Given the description of an element on the screen output the (x, y) to click on. 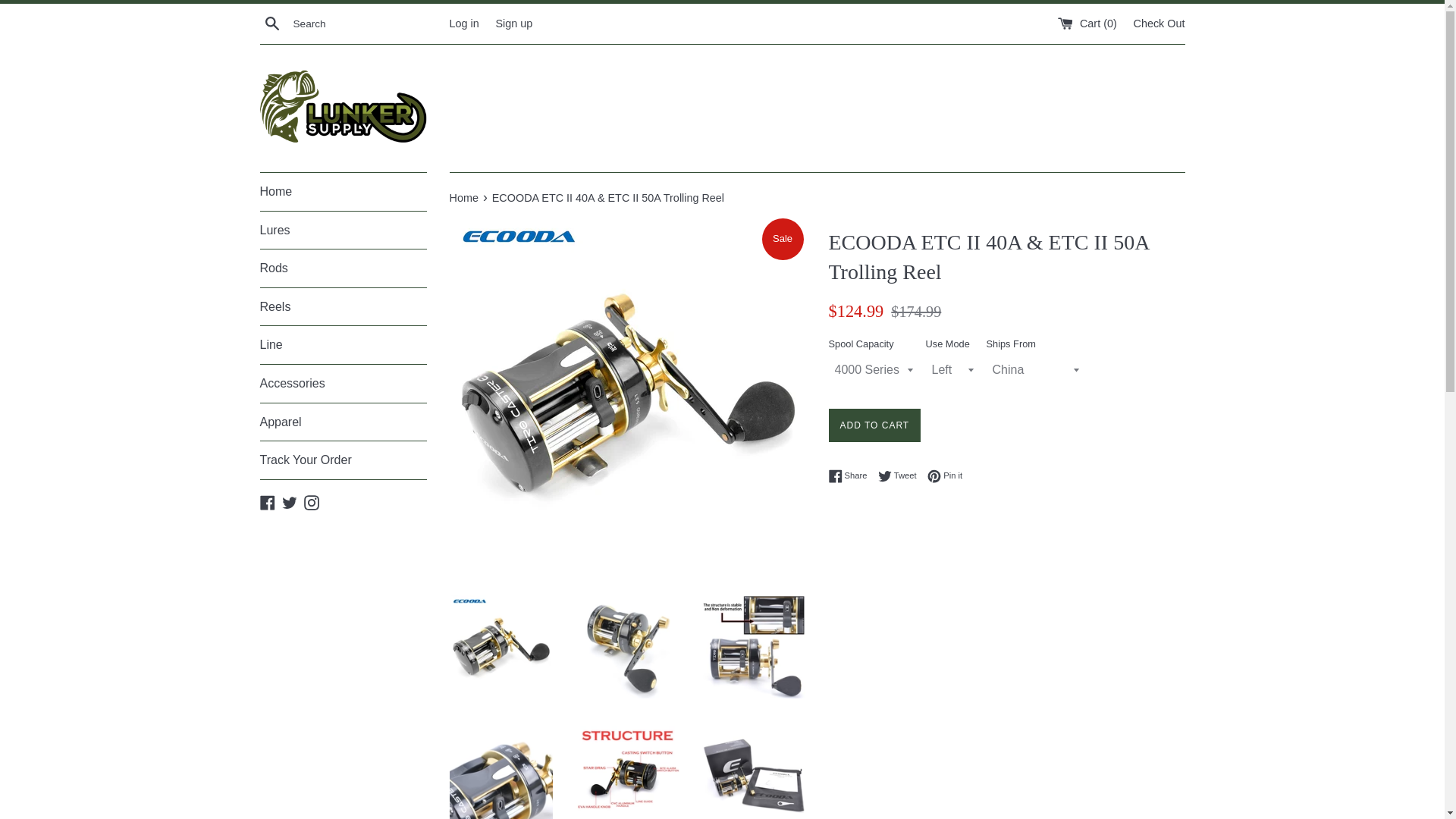
Log in (463, 22)
Lunker Supply on Twitter (289, 501)
Pin on Pinterest (944, 476)
Facebook (267, 501)
Back to the frontpage (464, 197)
Track Your Order (342, 460)
Lunker Supply on Facebook (267, 501)
Home (464, 197)
Sign up (513, 22)
Reels (342, 306)
